Given the description of an element on the screen output the (x, y) to click on. 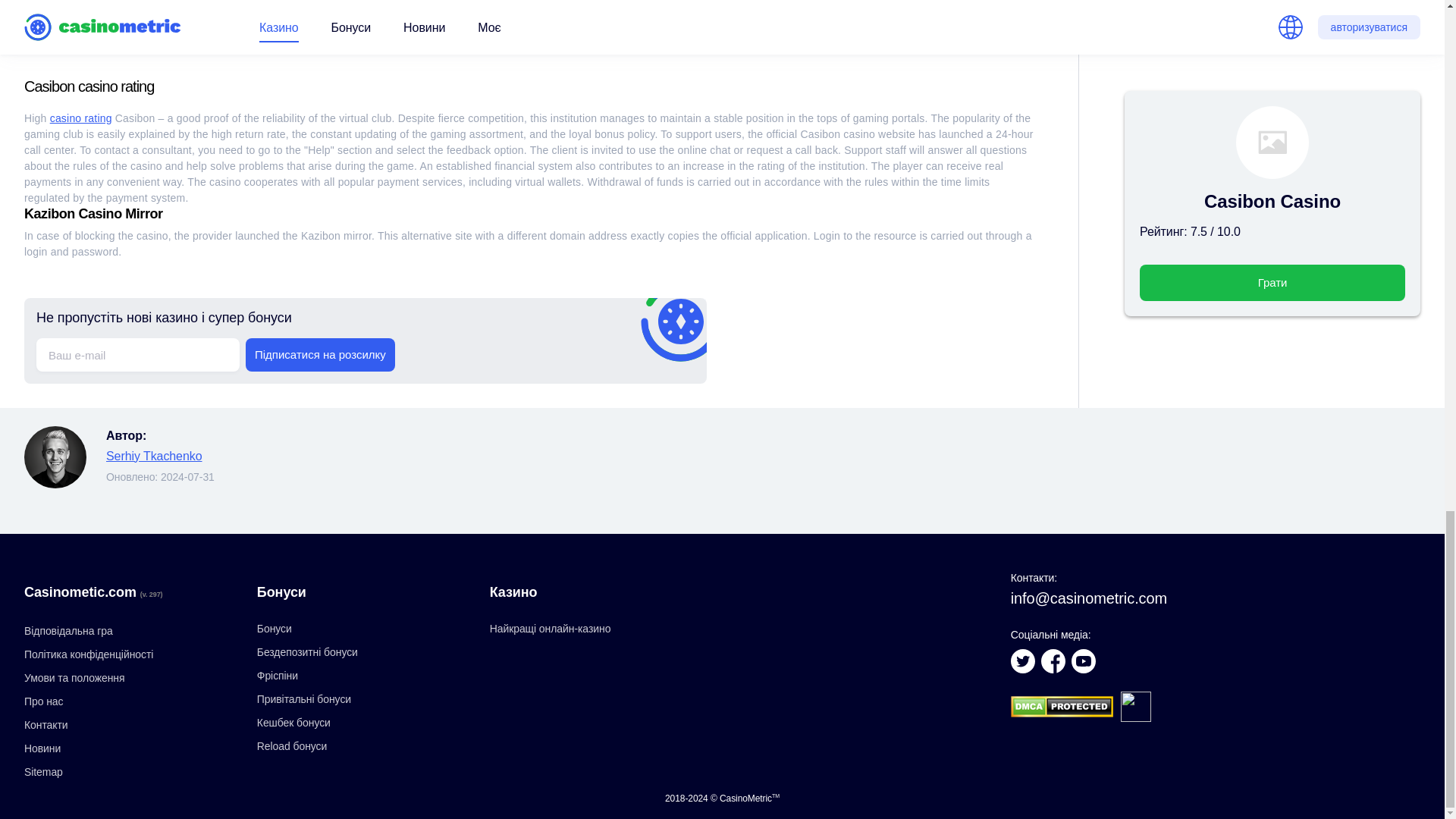
Serhiy Tkachenko (154, 455)
casino rating (80, 118)
